Given the description of an element on the screen output the (x, y) to click on. 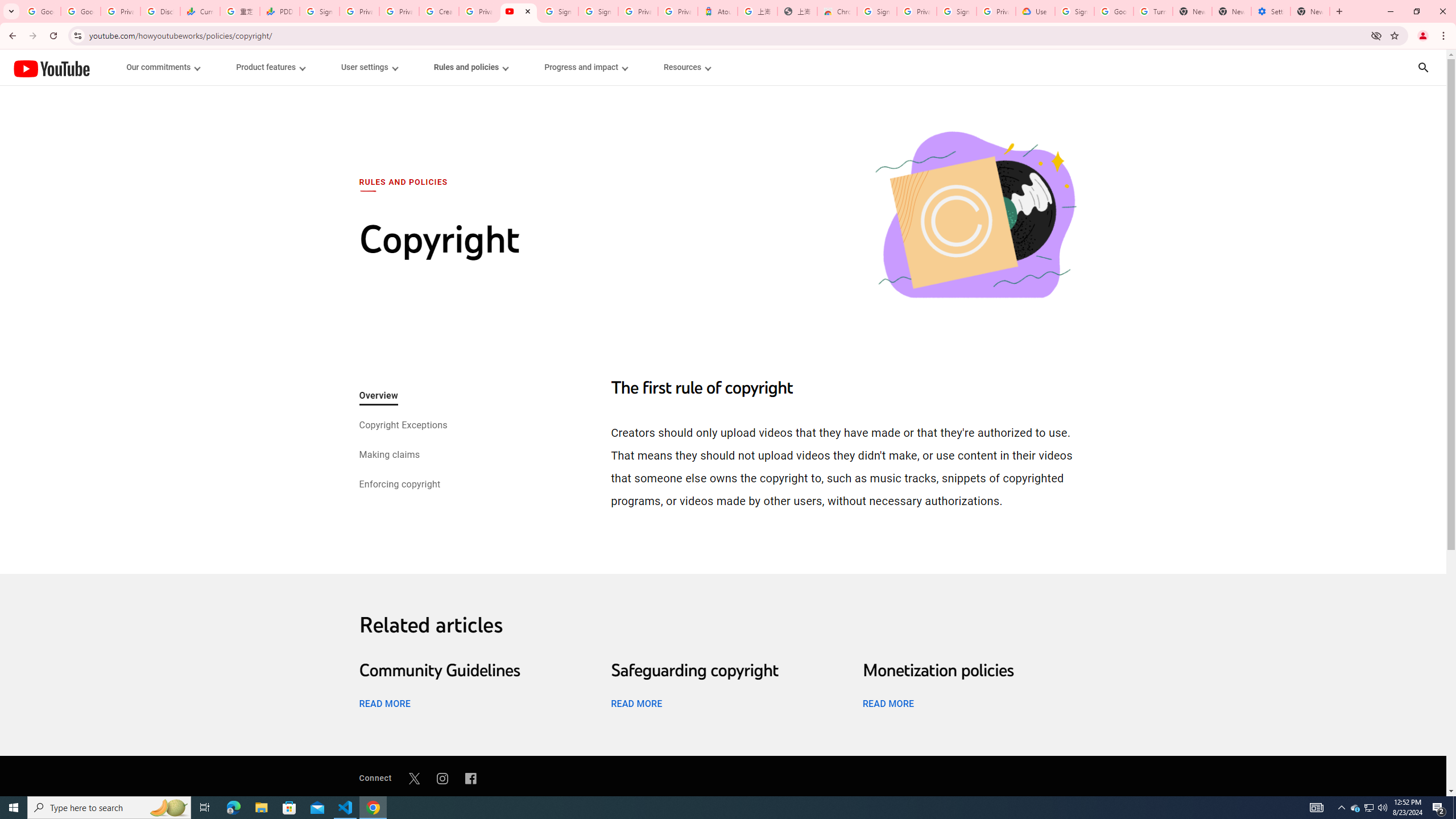
YouTube (51, 68)
Progress and impact menupopup (585, 67)
Copyright Exceptions (402, 425)
Atour Hotel - Google hotels (717, 11)
